Given the description of an element on the screen output the (x, y) to click on. 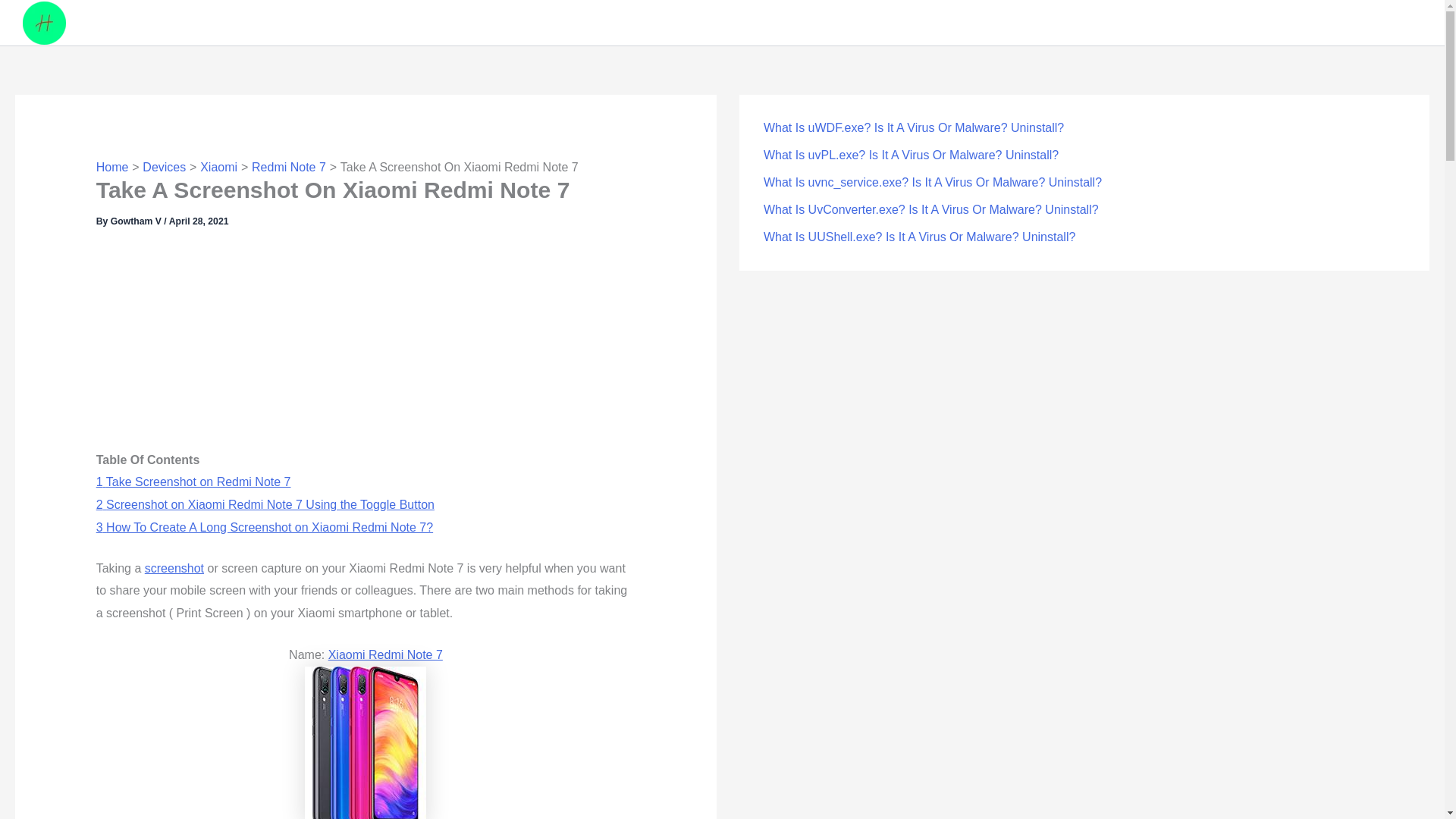
screenshot (173, 567)
Xiaomi (218, 166)
How To (153, 26)
Gowtham V (135, 221)
3 How To Create A Long Screenshot on Xiaomi Redmi Note 7? (264, 526)
View all posts by Gowtham V (135, 221)
Home (112, 166)
1 Take Screenshot on Redmi Note 7 (193, 481)
Contact Us (507, 26)
Xiaomi Redmi Note 7 (385, 654)
